Given the description of an element on the screen output the (x, y) to click on. 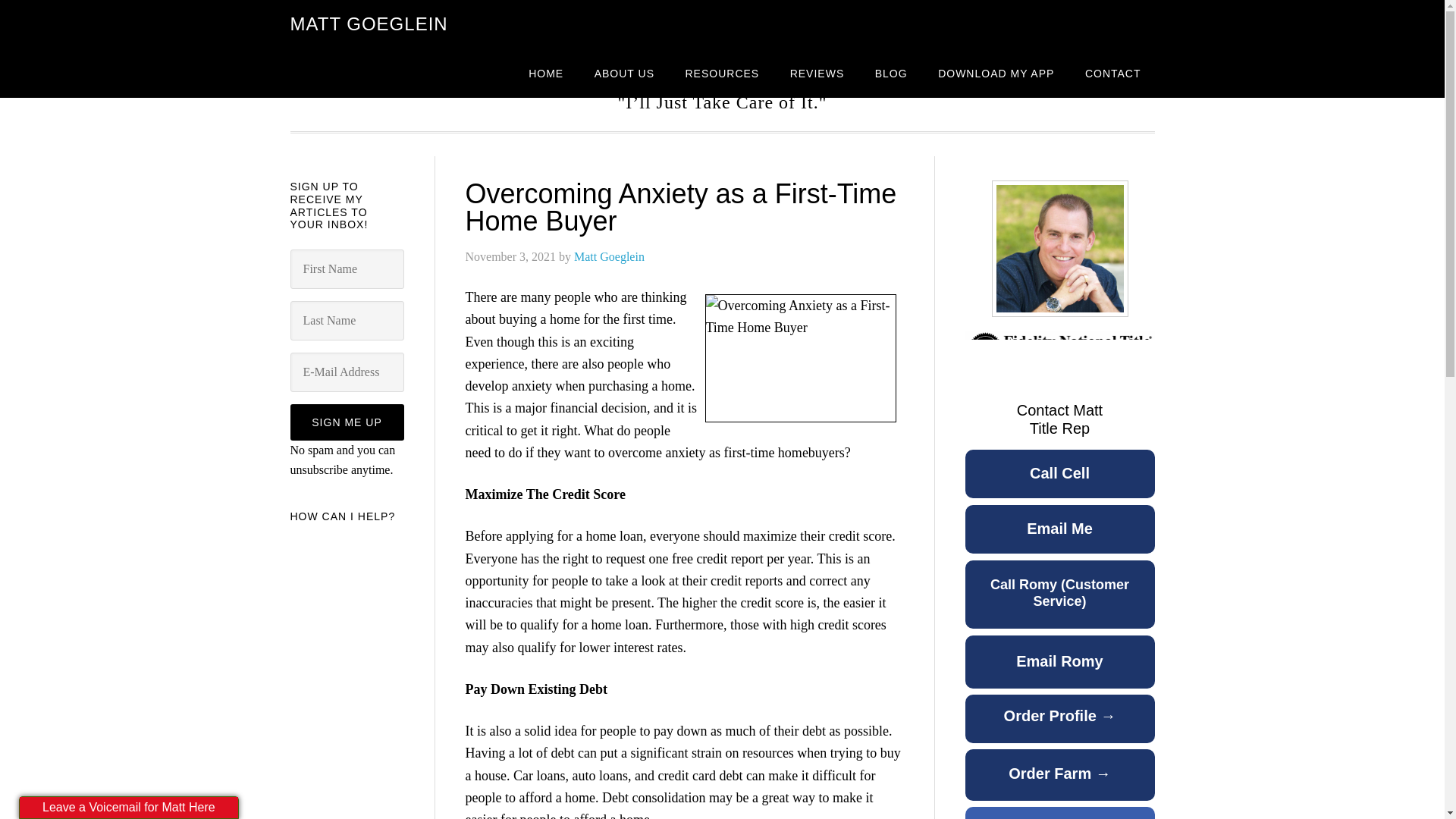
RESOURCES (722, 72)
BLOG (891, 72)
ABOUT US (624, 72)
Matt Goeglein (609, 256)
Email Romy (1059, 669)
REVIEWS (817, 72)
Leave a Voicemail for Matt Here (129, 807)
Sign Me Up (346, 422)
Sign Me Up (346, 422)
Email Me (1059, 537)
